Given the description of an element on the screen output the (x, y) to click on. 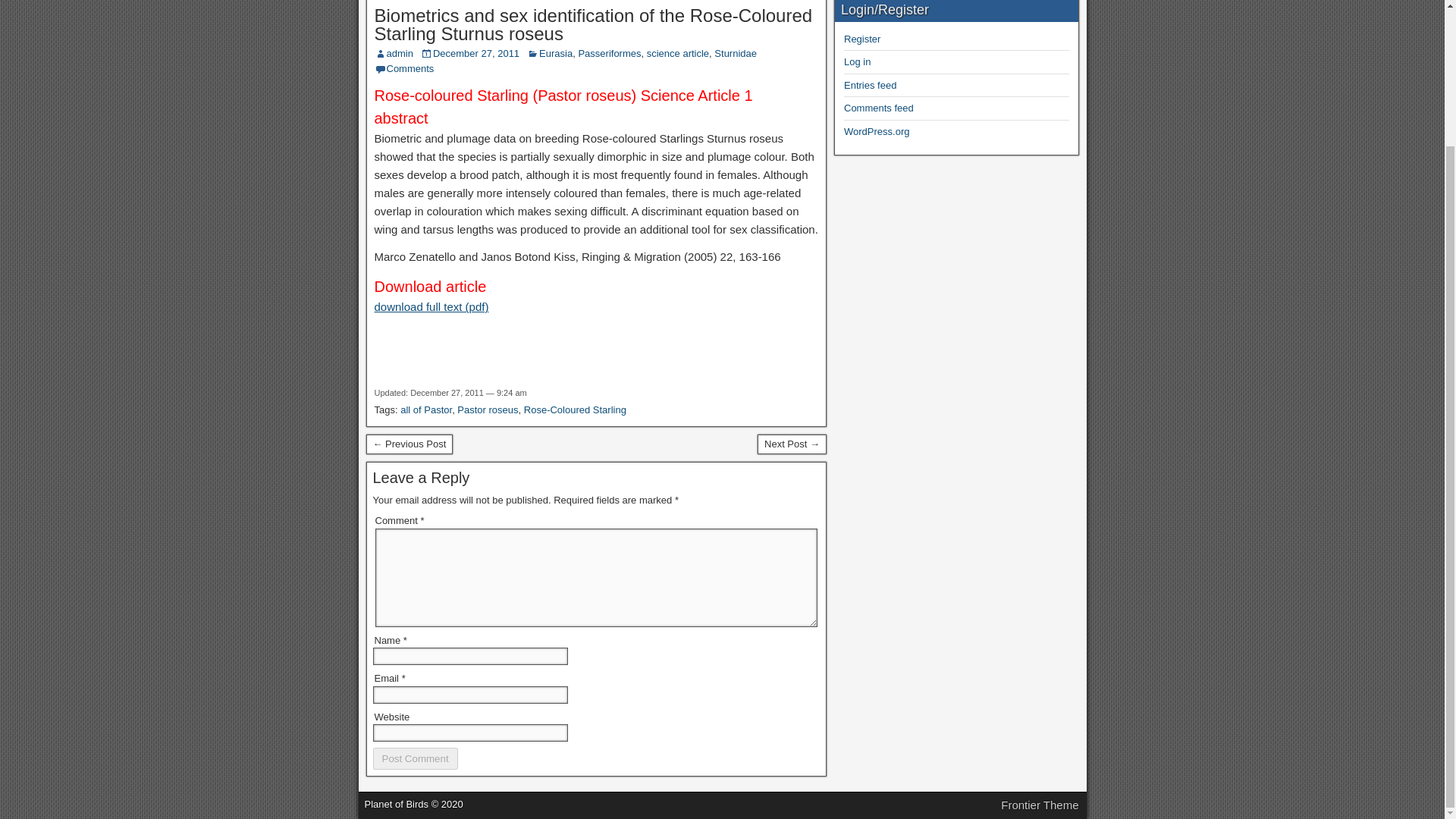
Register (862, 39)
December 27, 2011 (475, 52)
Comments feed (879, 107)
NESTING ECOLOGY OF ROSEATE SPOONBILLS AT NUECES BAY, TEXAS (408, 444)
Post Comment (415, 758)
Entries feed (870, 84)
Passeriformes (609, 52)
Pastor roseus (487, 409)
Sturnidae (735, 52)
Advertisement (596, 357)
Comments (410, 68)
Frontier Theme (1039, 804)
Log in (857, 61)
